Given the description of an element on the screen output the (x, y) to click on. 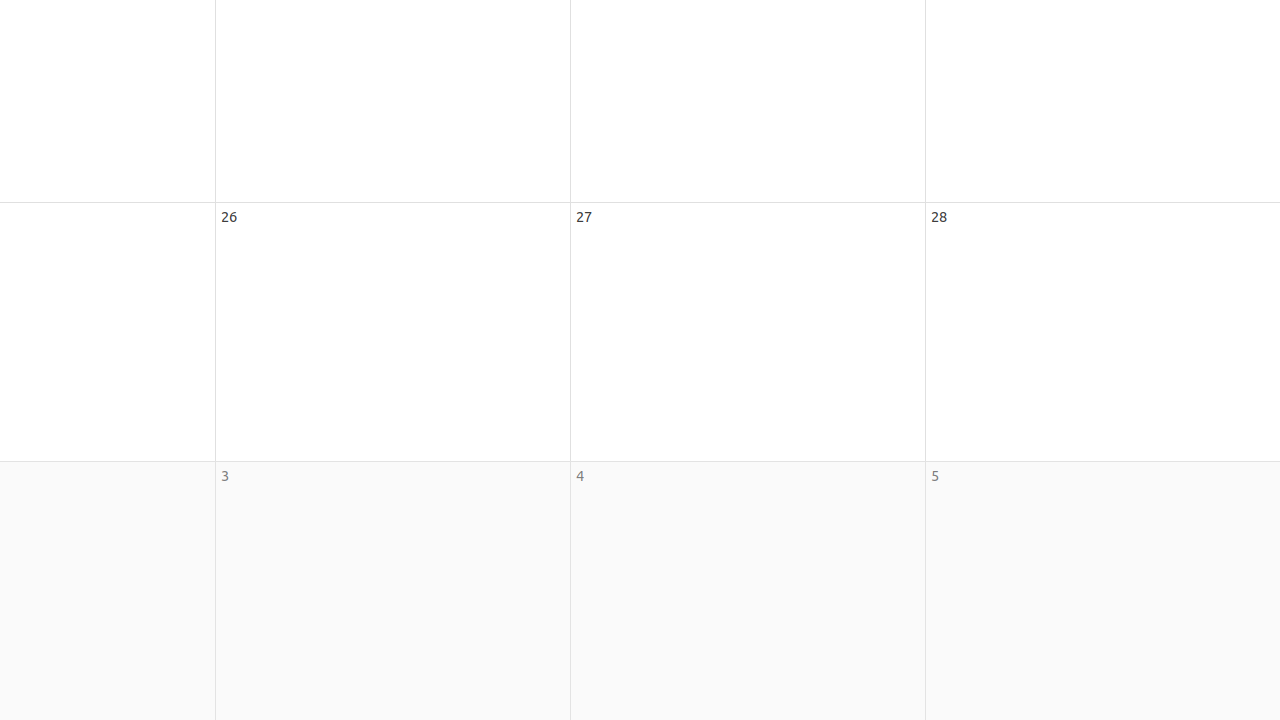
28 Element type: label (939, 216)
